Given the description of an element on the screen output the (x, y) to click on. 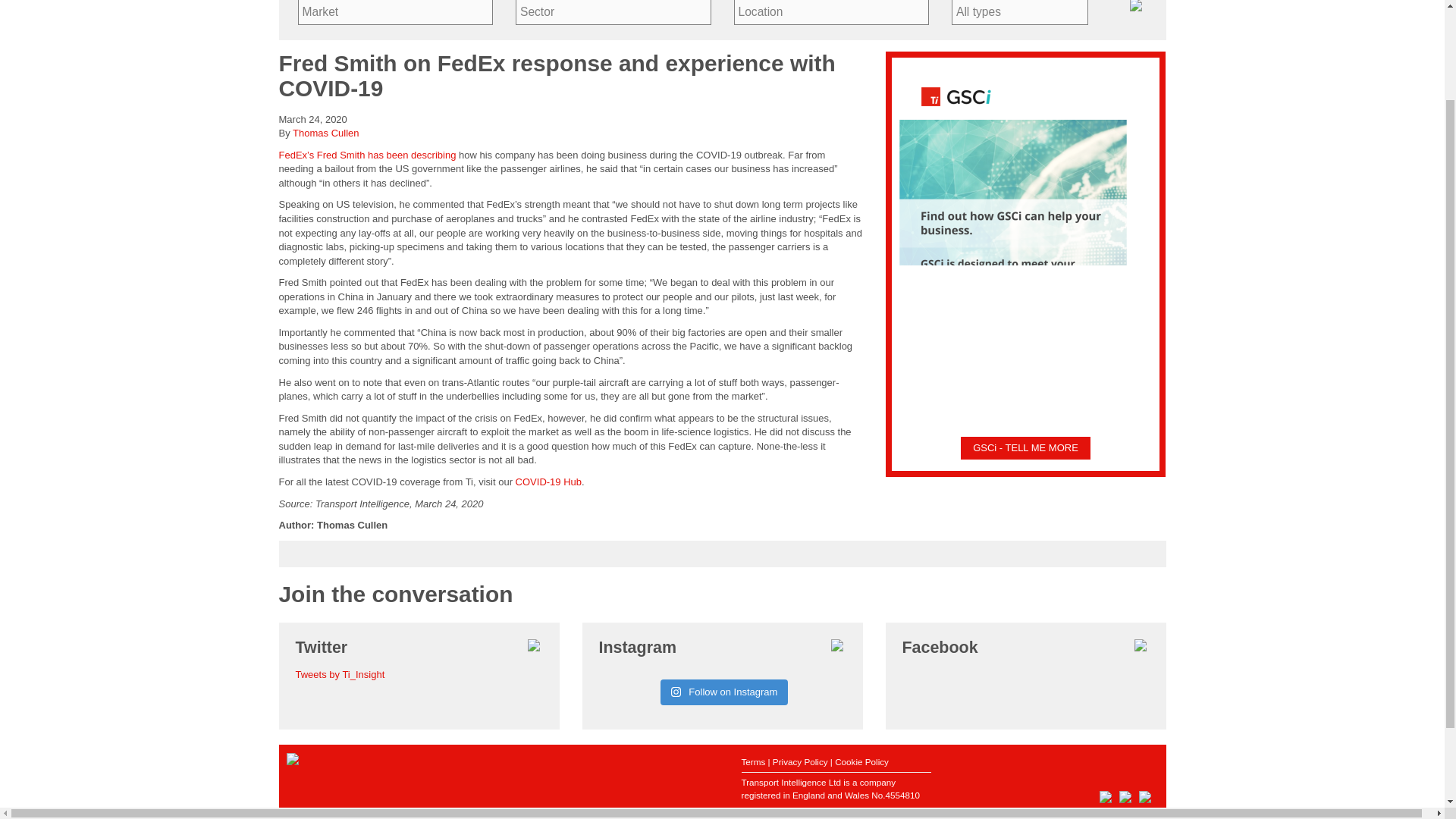
Thomas Cullen (325, 132)
GSCi - TELL ME MORE (1025, 448)
COVID-19 Hub (547, 481)
